Given the description of an element on the screen output the (x, y) to click on. 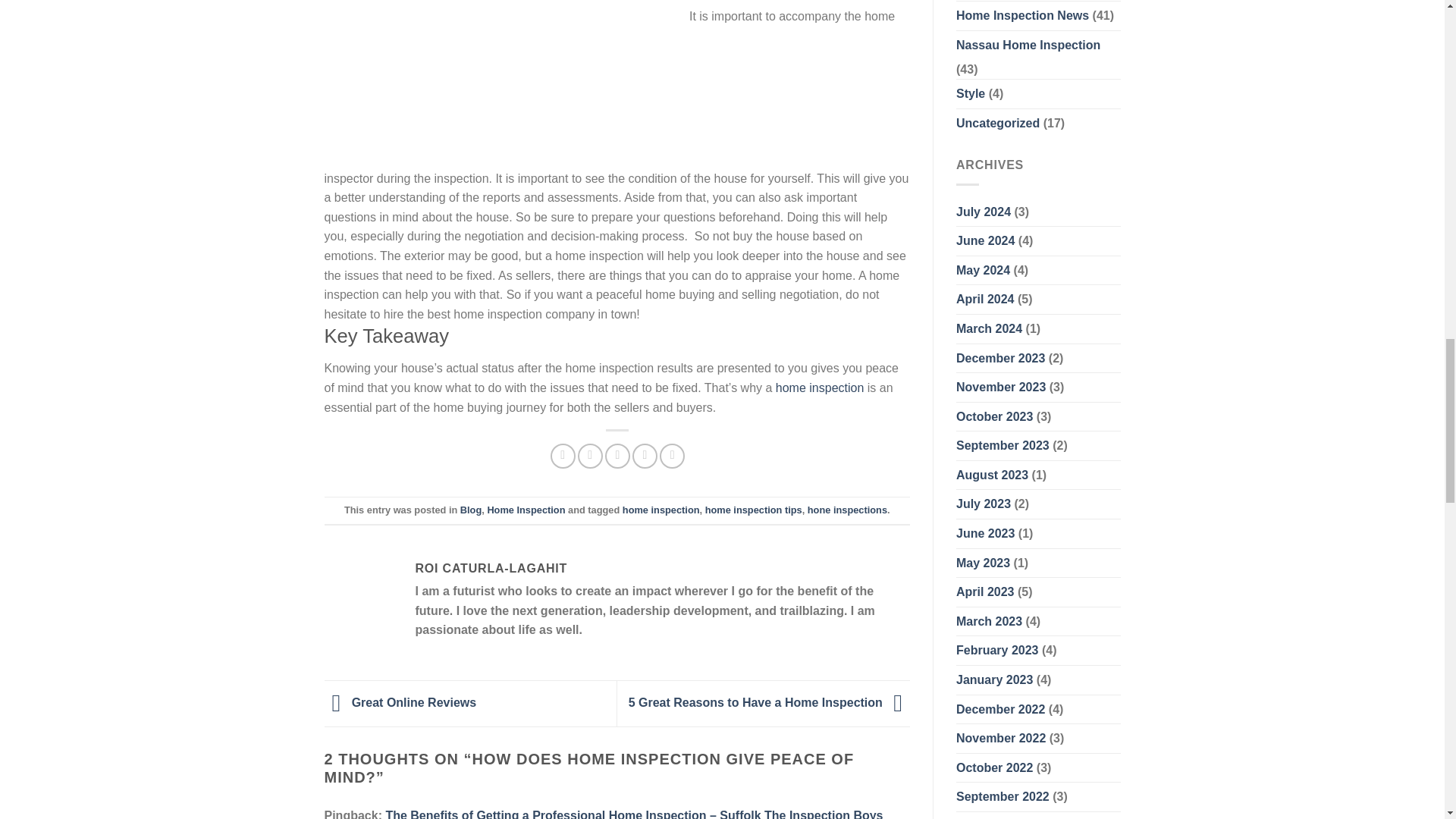
Share on Facebook (562, 455)
Email to a Friend (617, 455)
Share on LinkedIn (671, 455)
Share on Twitter (590, 455)
Pin on Pinterest (644, 455)
